Given the description of an element on the screen output the (x, y) to click on. 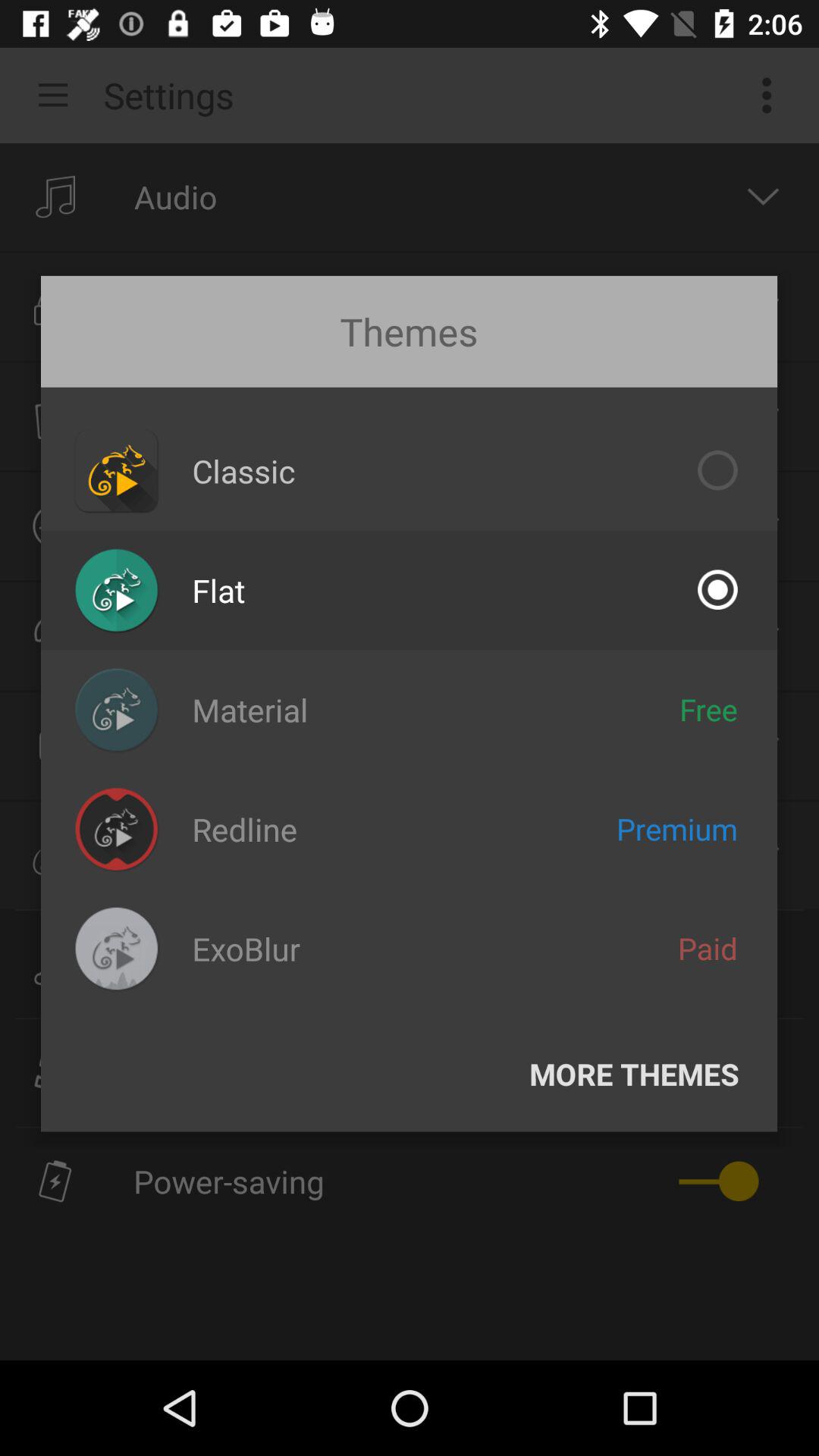
turn on icon next to the redline (677, 828)
